Given the description of an element on the screen output the (x, y) to click on. 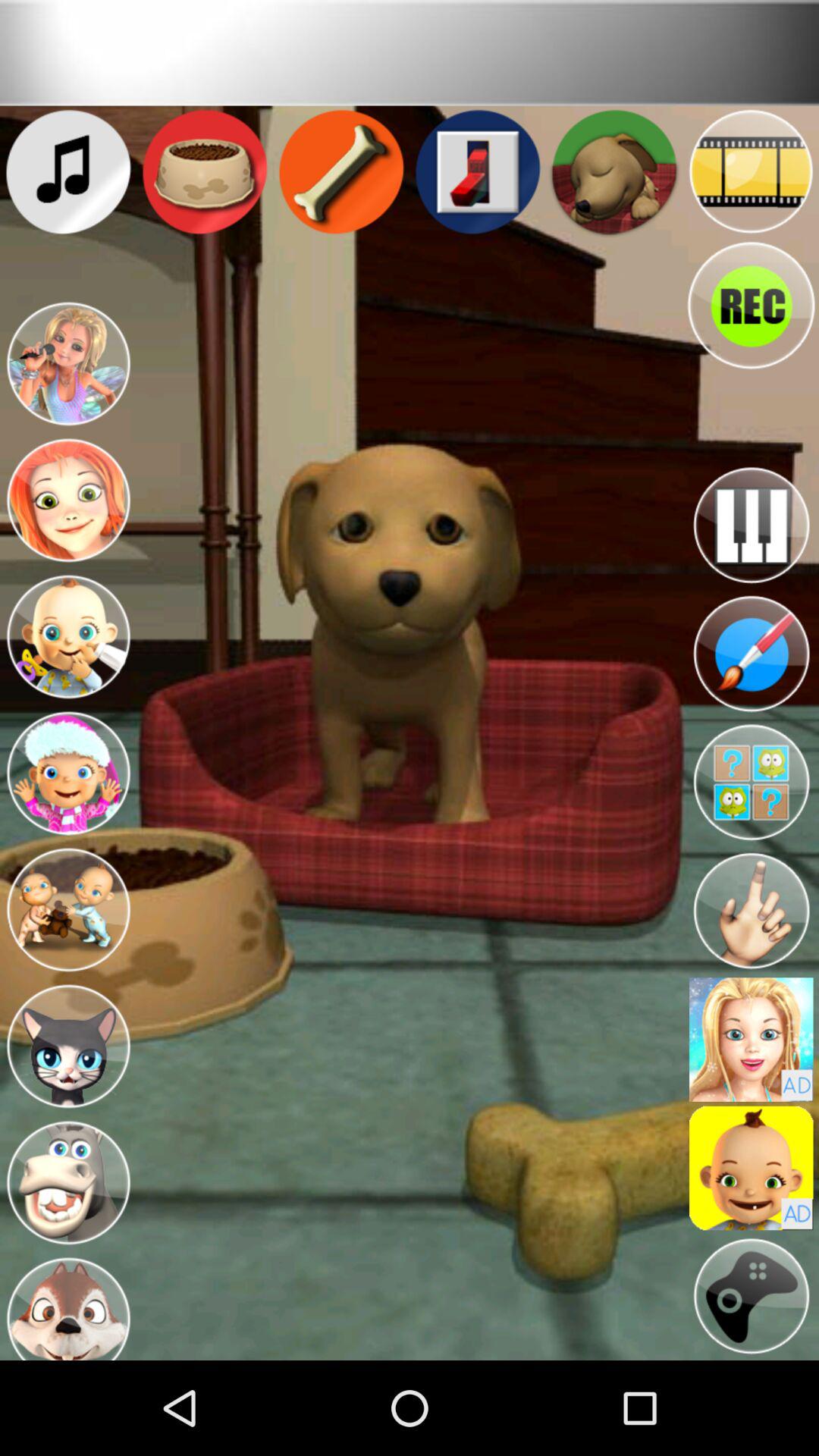
chipmunk icon (68, 1305)
